Given the description of an element on the screen output the (x, y) to click on. 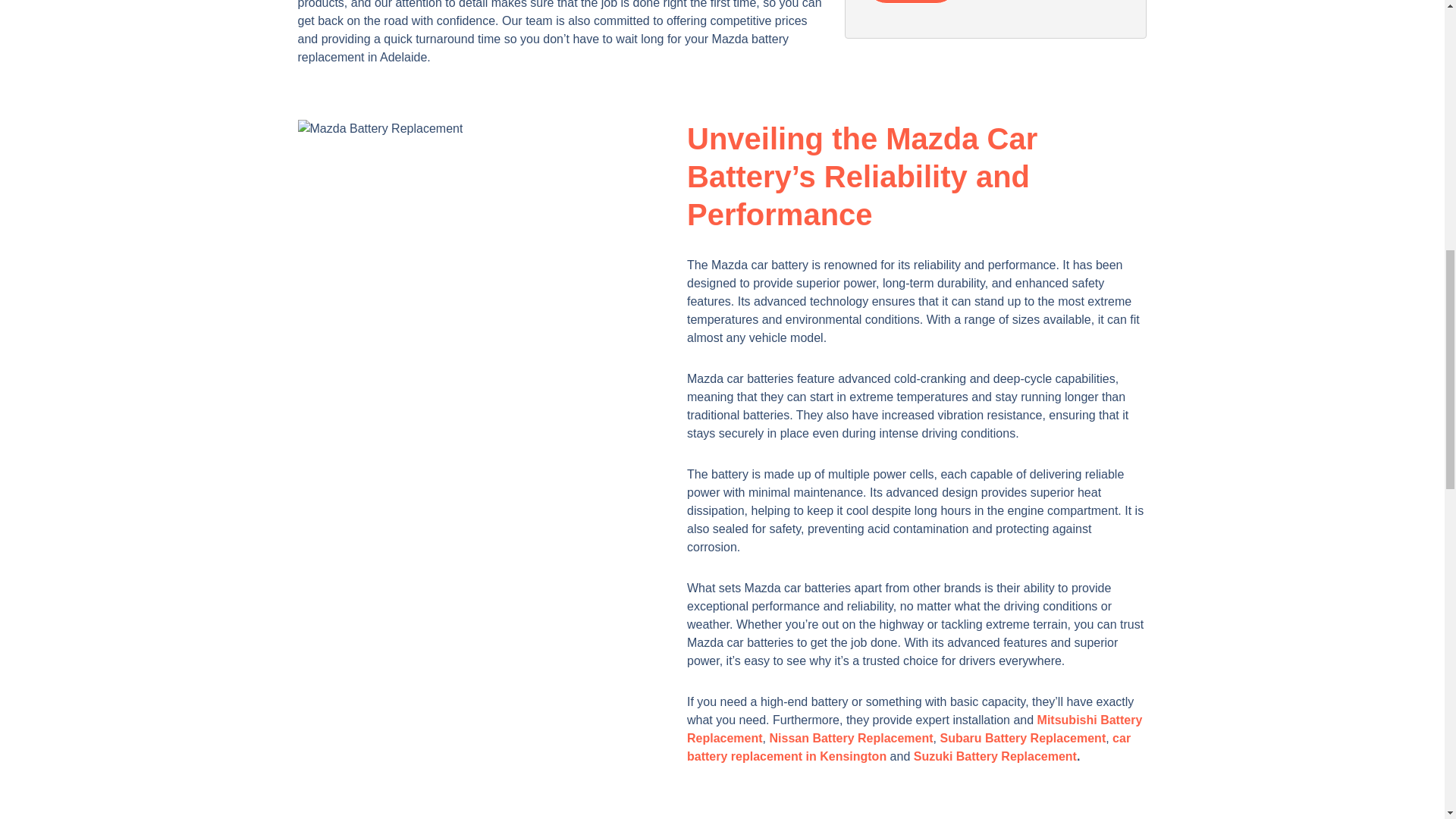
Submit (911, 2)
Submit (911, 2)
